Given the description of an element on the screen output the (x, y) to click on. 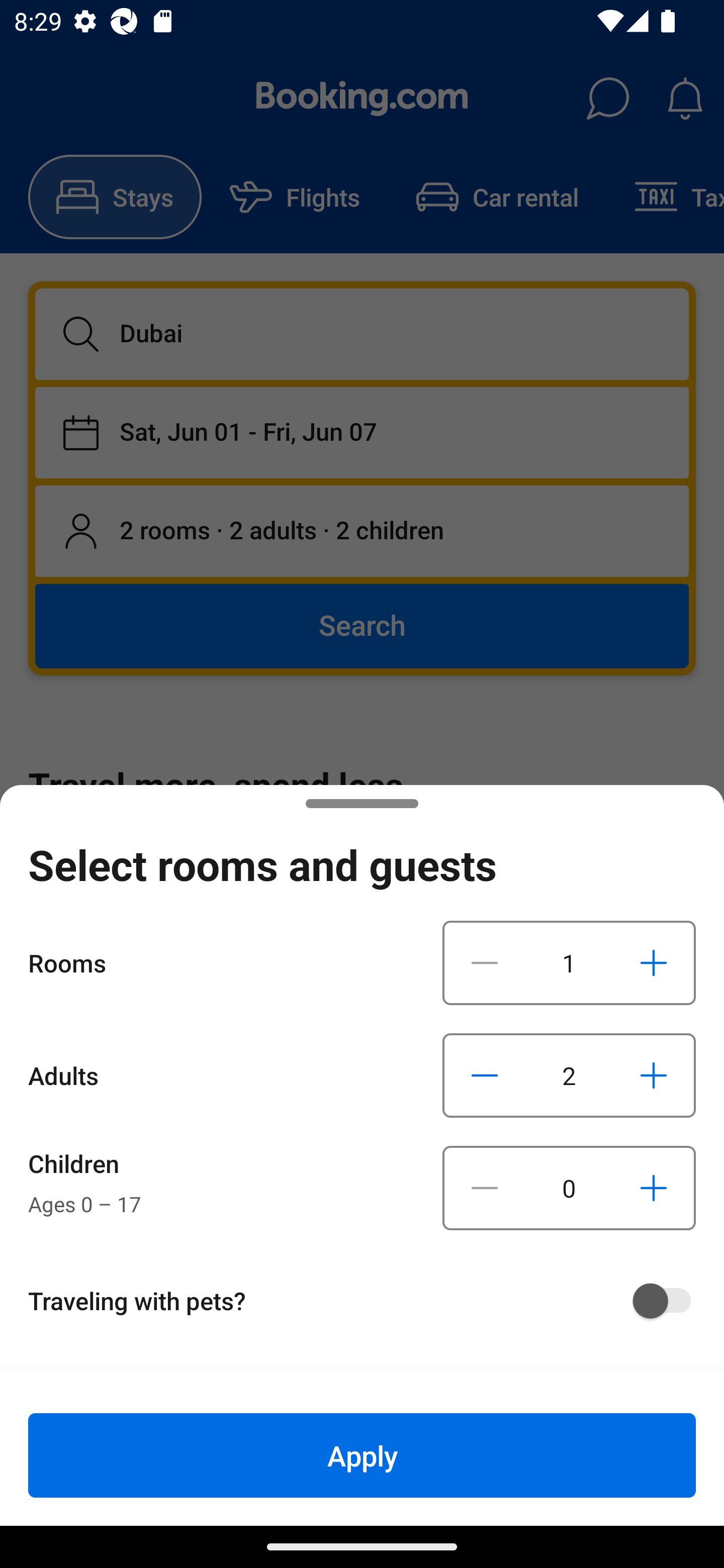
Decrease (484, 962)
Increase (653, 962)
Decrease (484, 1075)
Increase (653, 1075)
Decrease (484, 1188)
Increase (653, 1188)
Traveling with pets? (369, 1300)
Apply (361, 1454)
